Given the description of an element on the screen output the (x, y) to click on. 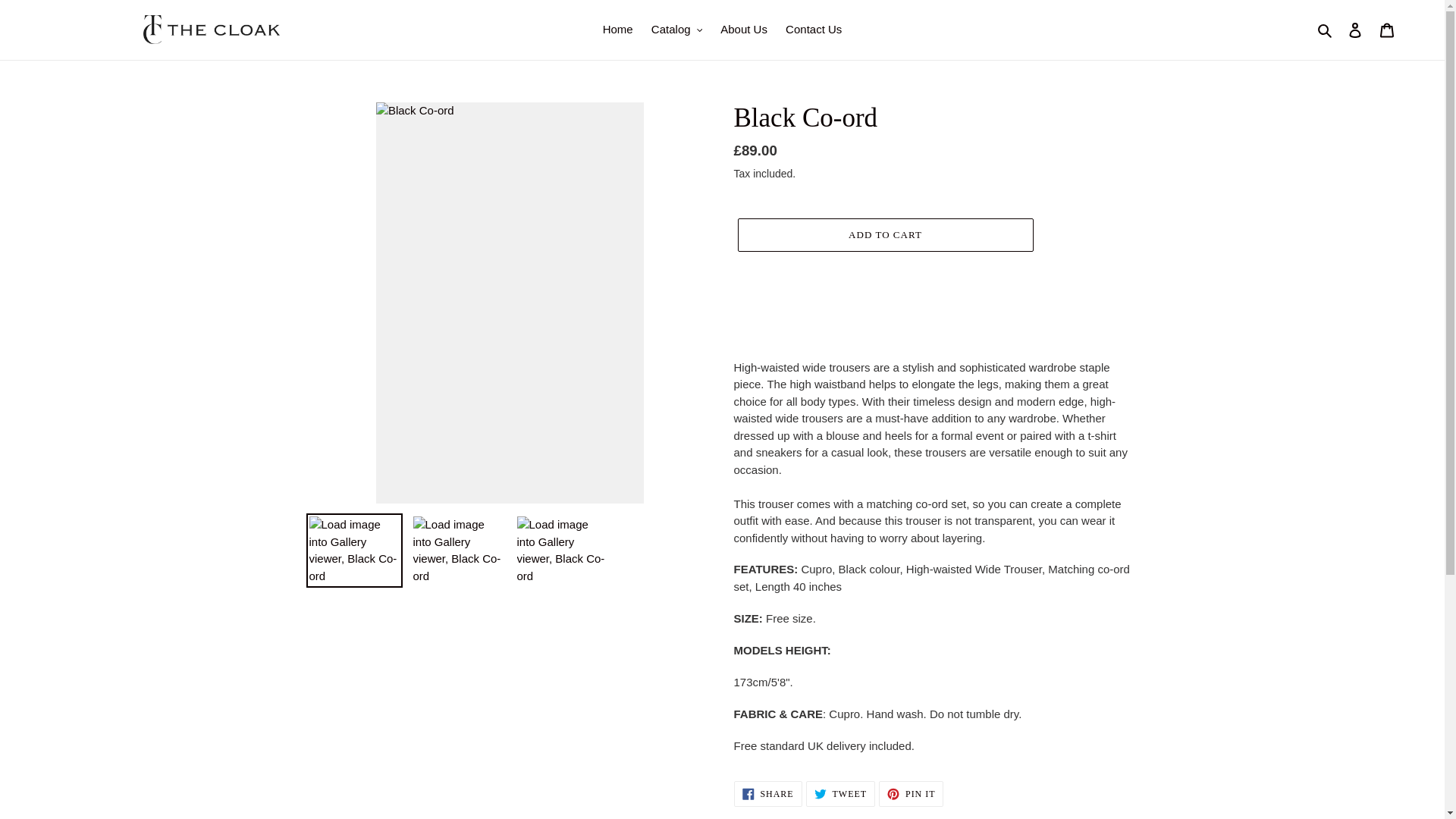
About Us (743, 29)
Contact Us (812, 29)
Home (617, 29)
Catalog (676, 29)
Search (1326, 29)
